Given the description of an element on the screen output the (x, y) to click on. 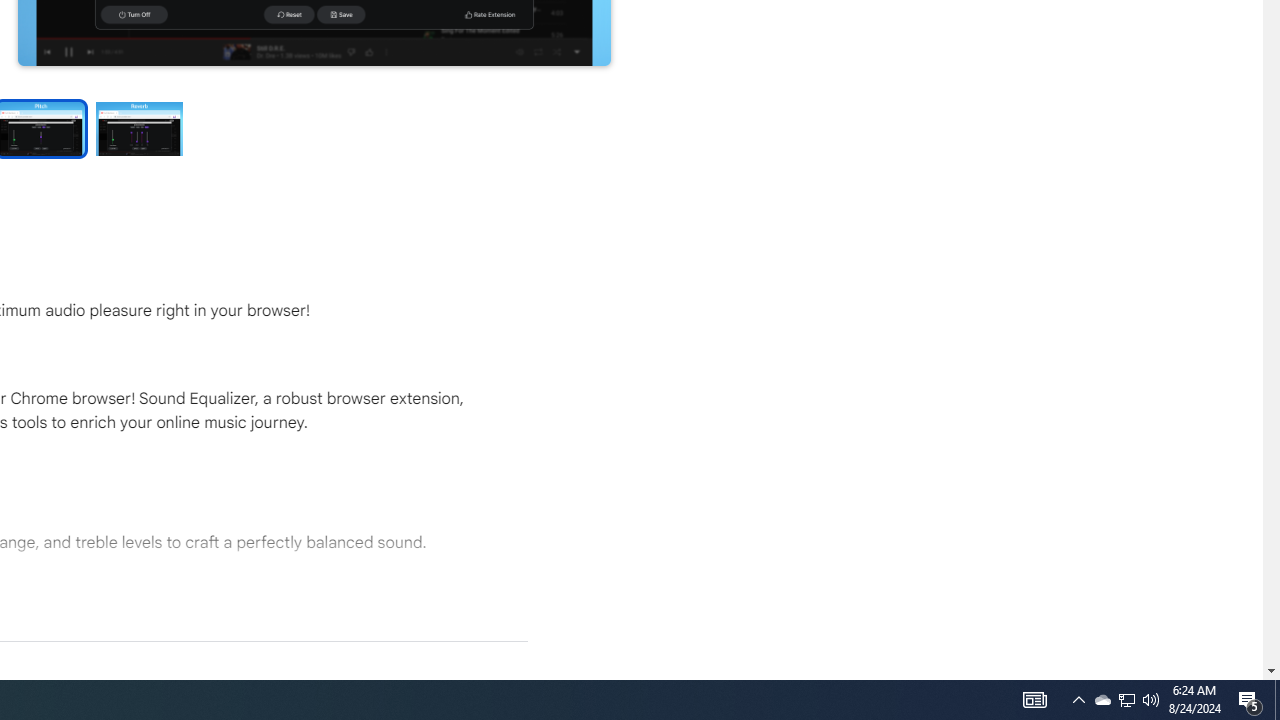
Preview slide 4 (140, 128)
